Given the description of an element on the screen output the (x, y) to click on. 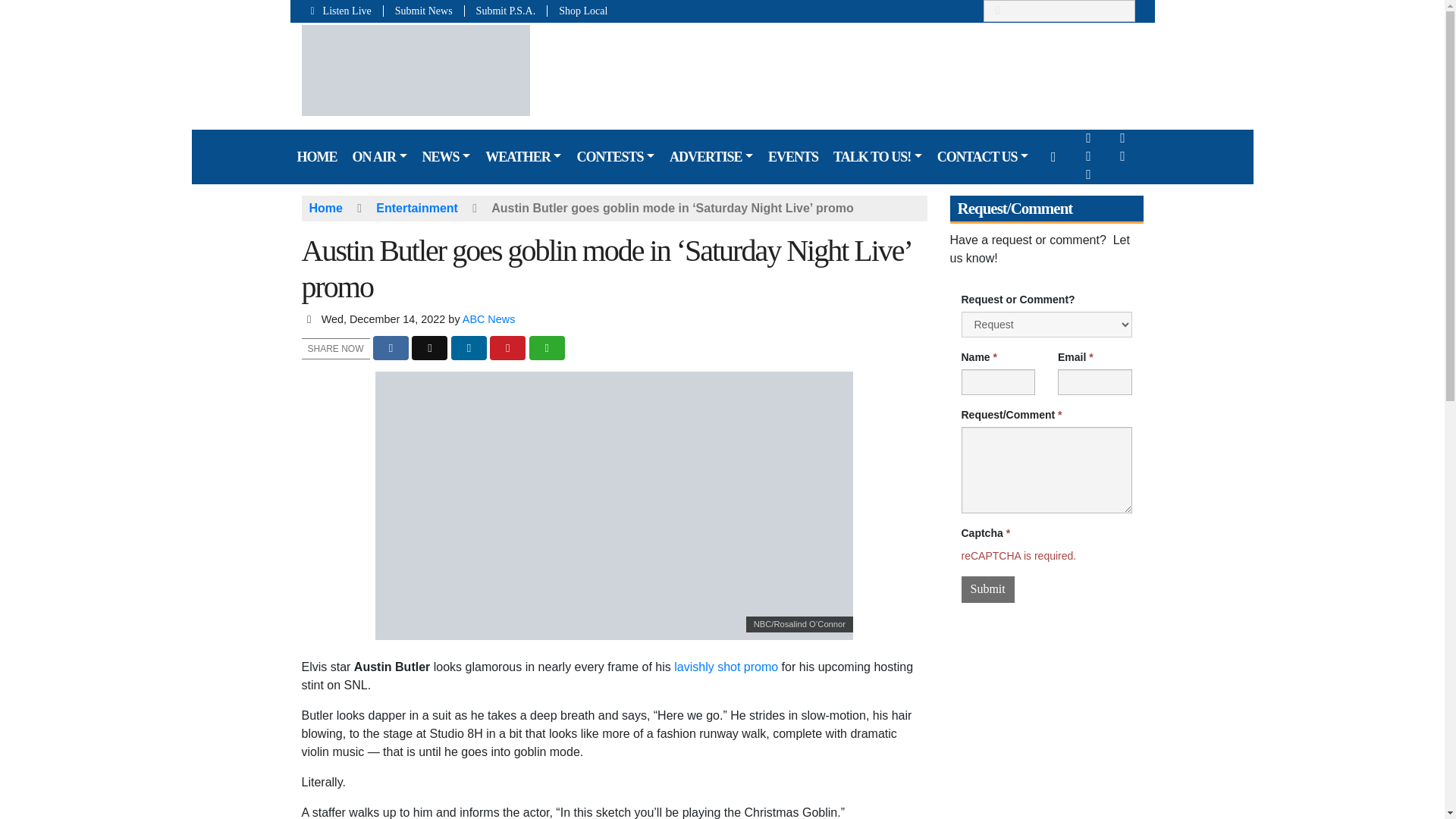
Search for: (1059, 11)
